Given the description of an element on the screen output the (x, y) to click on. 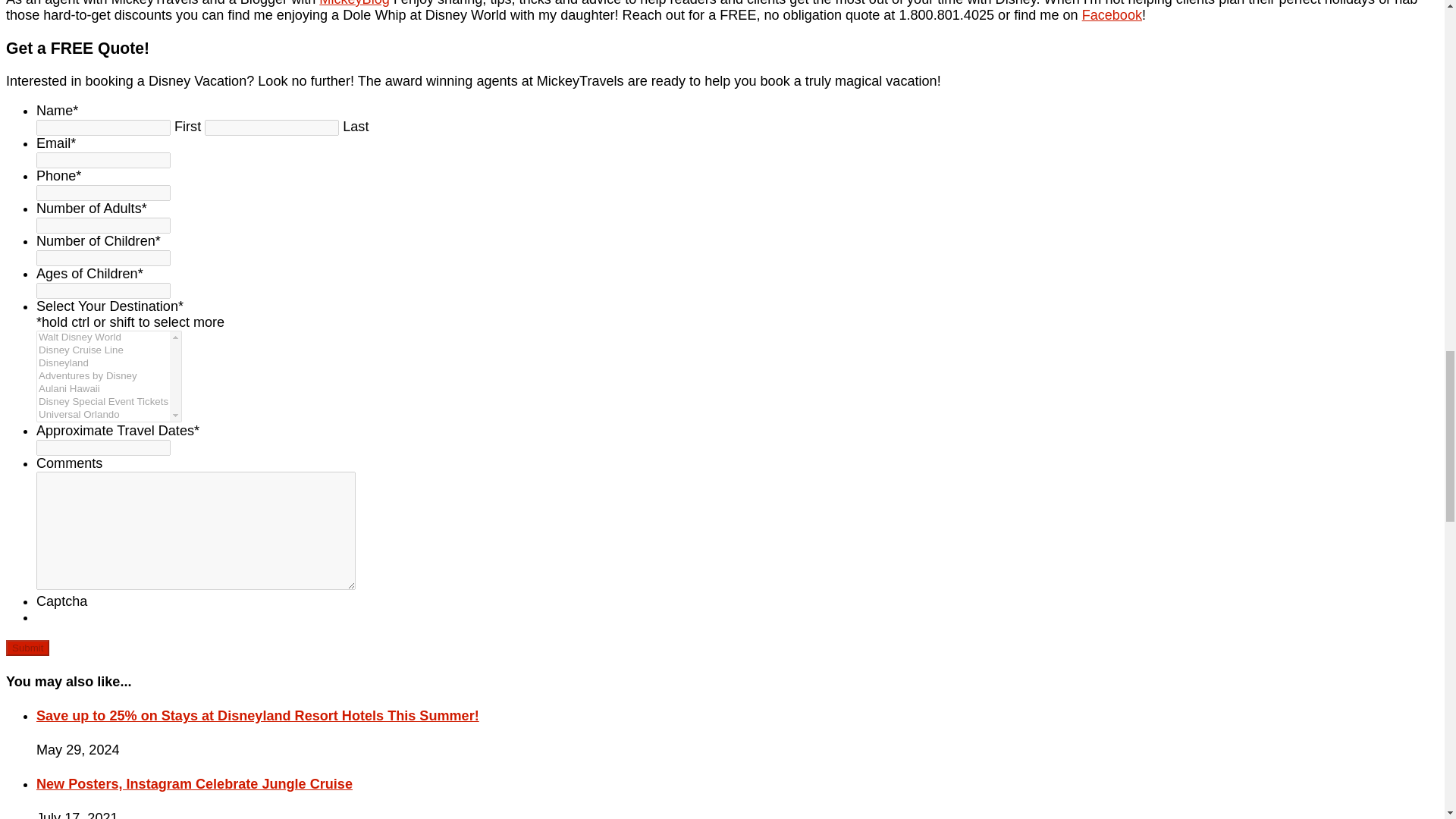
Submit (27, 647)
